Given the description of an element on the screen output the (x, y) to click on. 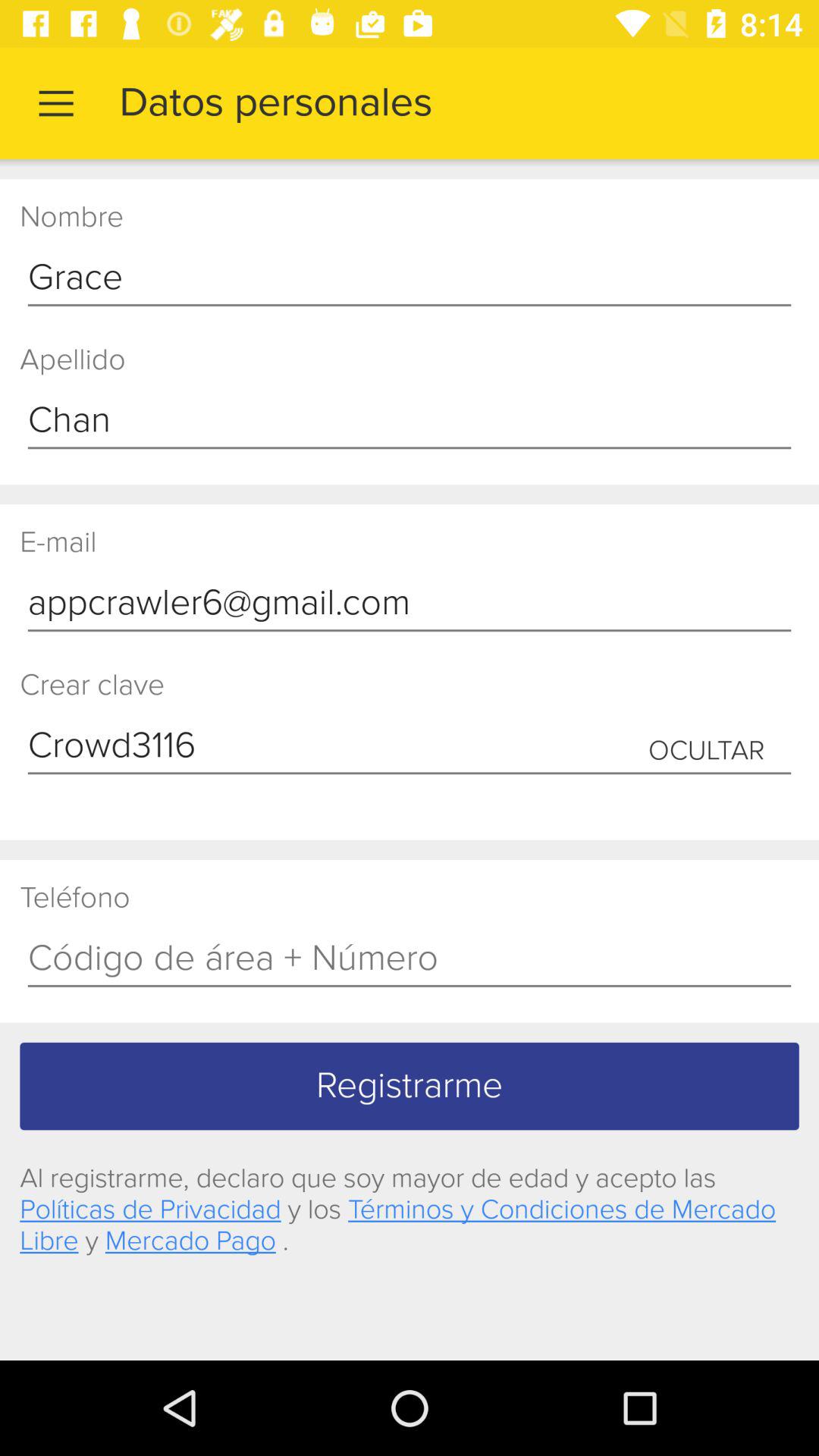
choose the icon below the e-mail (409, 603)
